Given the description of an element on the screen output the (x, y) to click on. 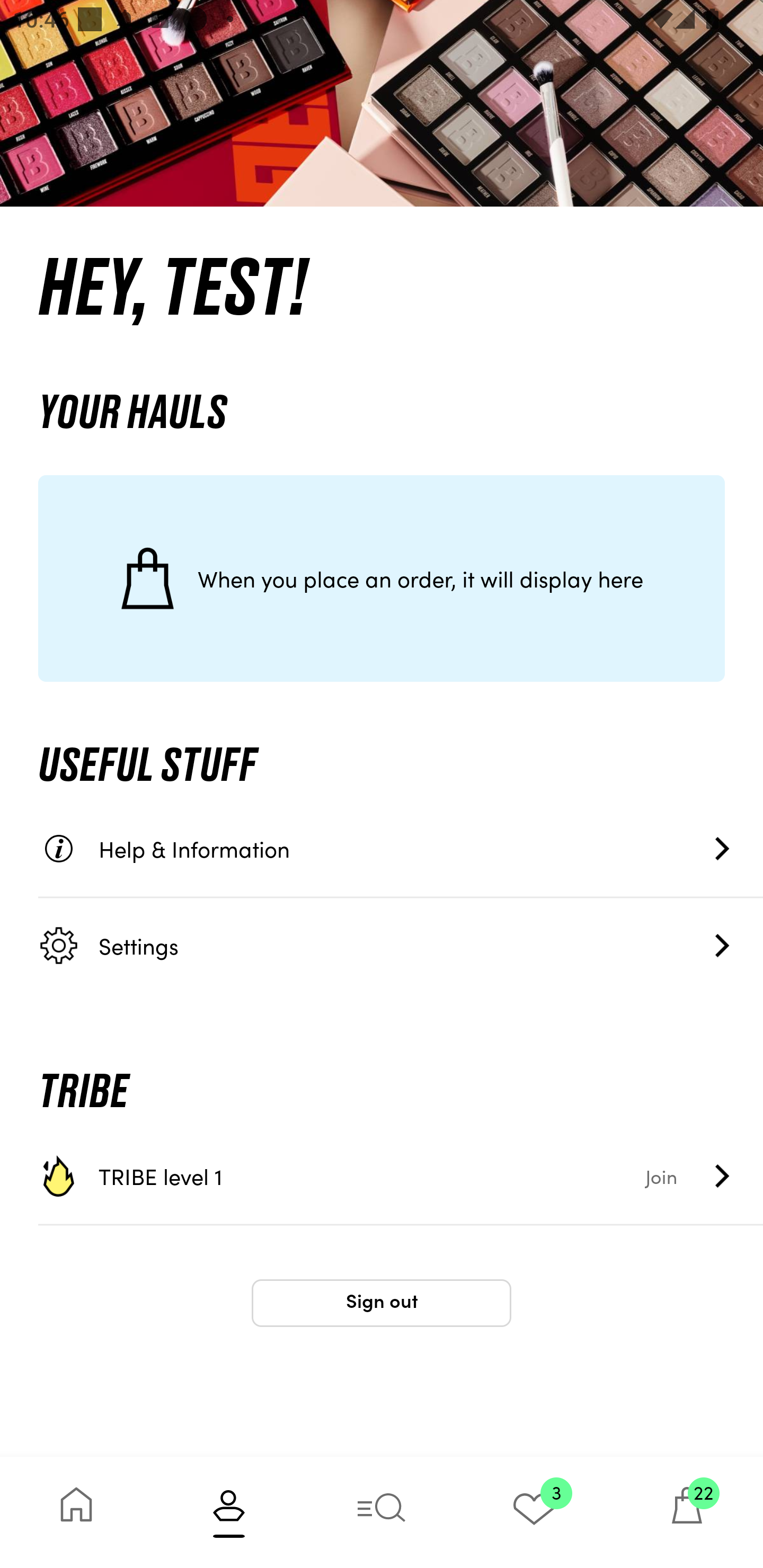
Help & Information (400, 848)
Settings (400, 945)
TRIBE level 1 Join (400, 1175)
Sign out (381, 1302)
3 (533, 1512)
22 (686, 1512)
